Given the description of an element on the screen output the (x, y) to click on. 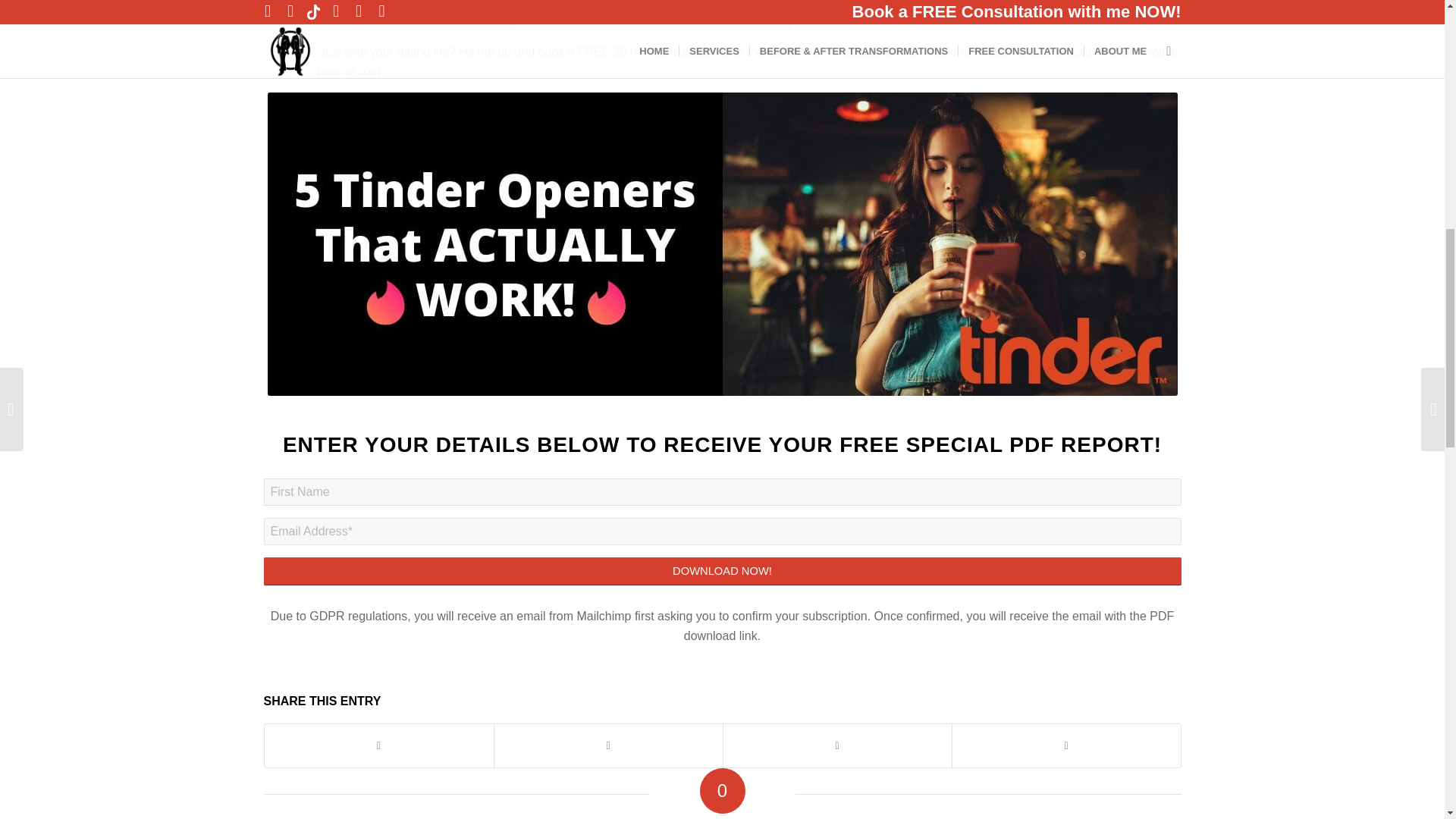
DOWNLOAD NOW! (721, 571)
DOWNLOAD NOW! (721, 571)
